Given the description of an element on the screen output the (x, y) to click on. 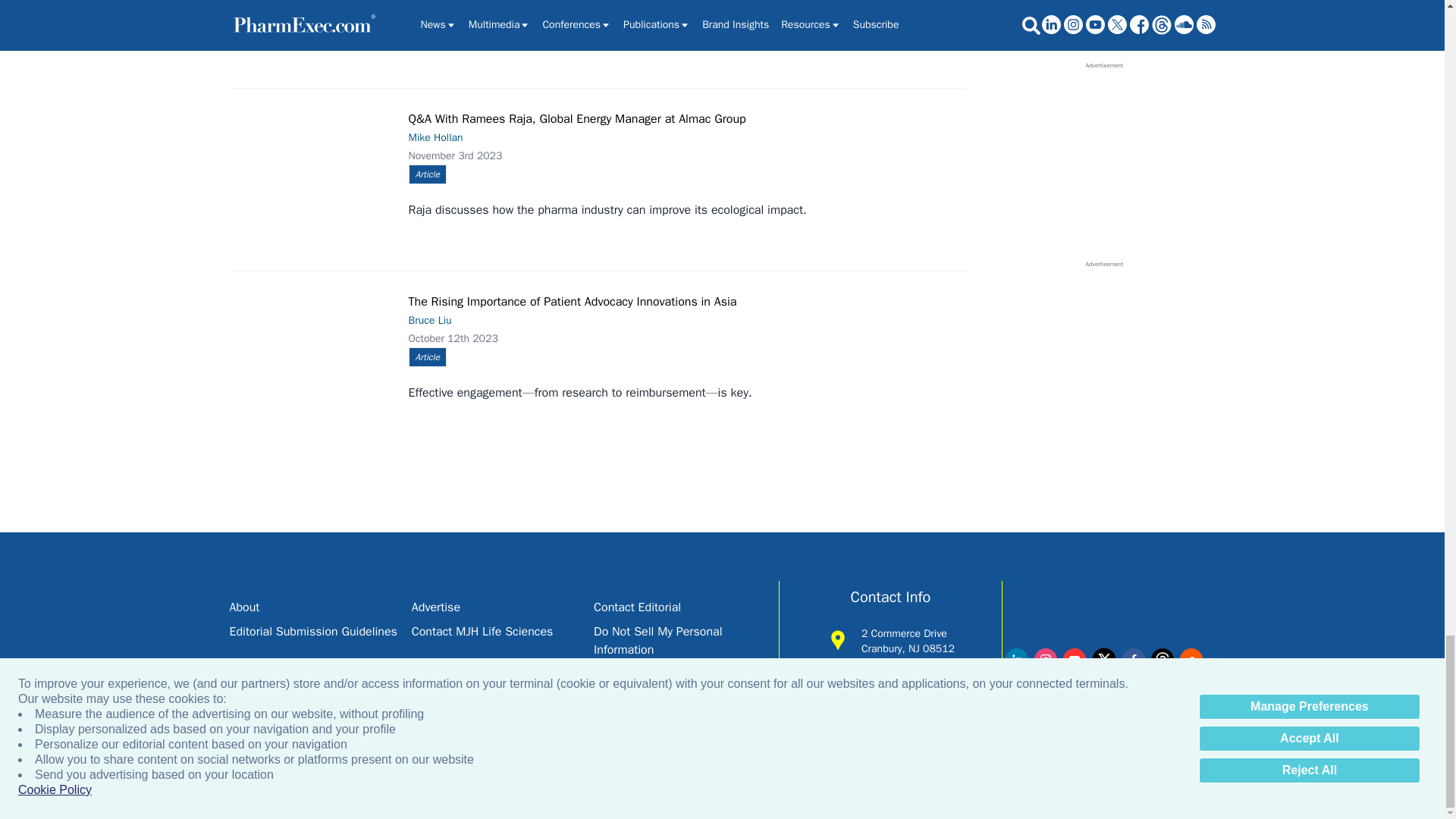
Bruce Liu (317, 339)
Professor F. Warren McFarlan, DBA, MBA, AB  (317, 24)
Ramees Raja (317, 157)
